Given the description of an element on the screen output the (x, y) to click on. 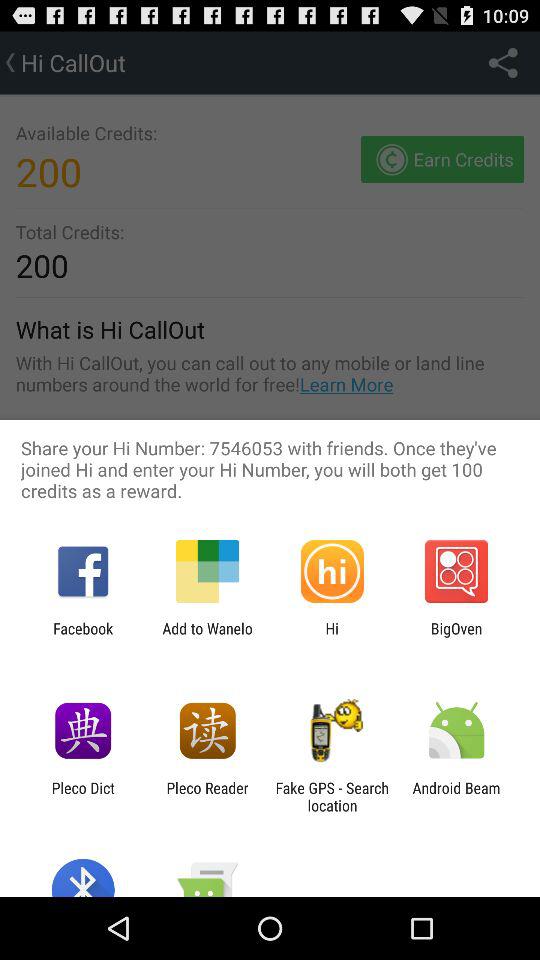
launch the app next to the pleco reader item (82, 796)
